Given the description of an element on the screen output the (x, y) to click on. 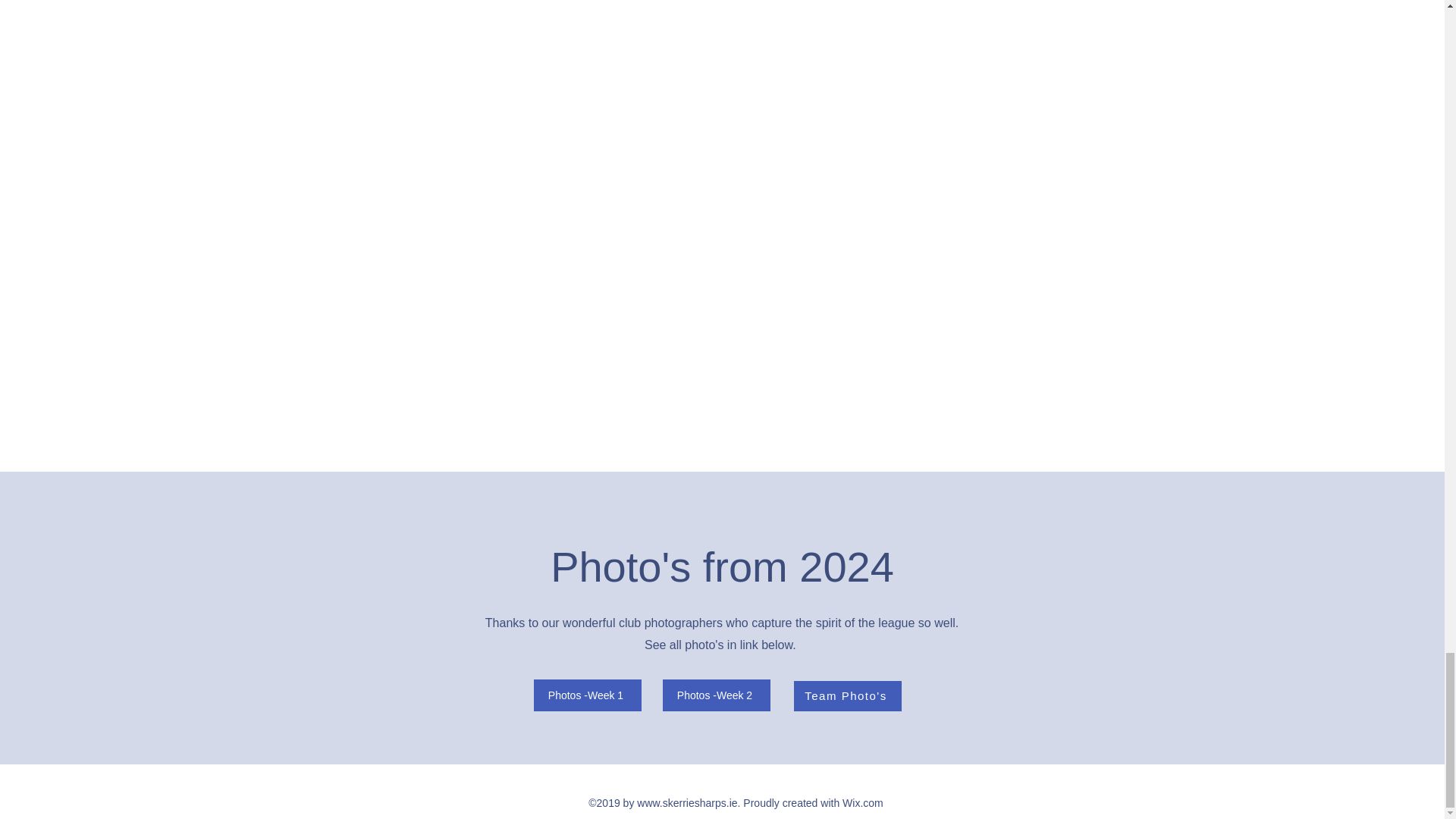
www.skerriesharps.ie (686, 802)
Photos -Week 2 (716, 695)
Photos -Week 1 (588, 695)
Team Photo's (847, 695)
